Given the description of an element on the screen output the (x, y) to click on. 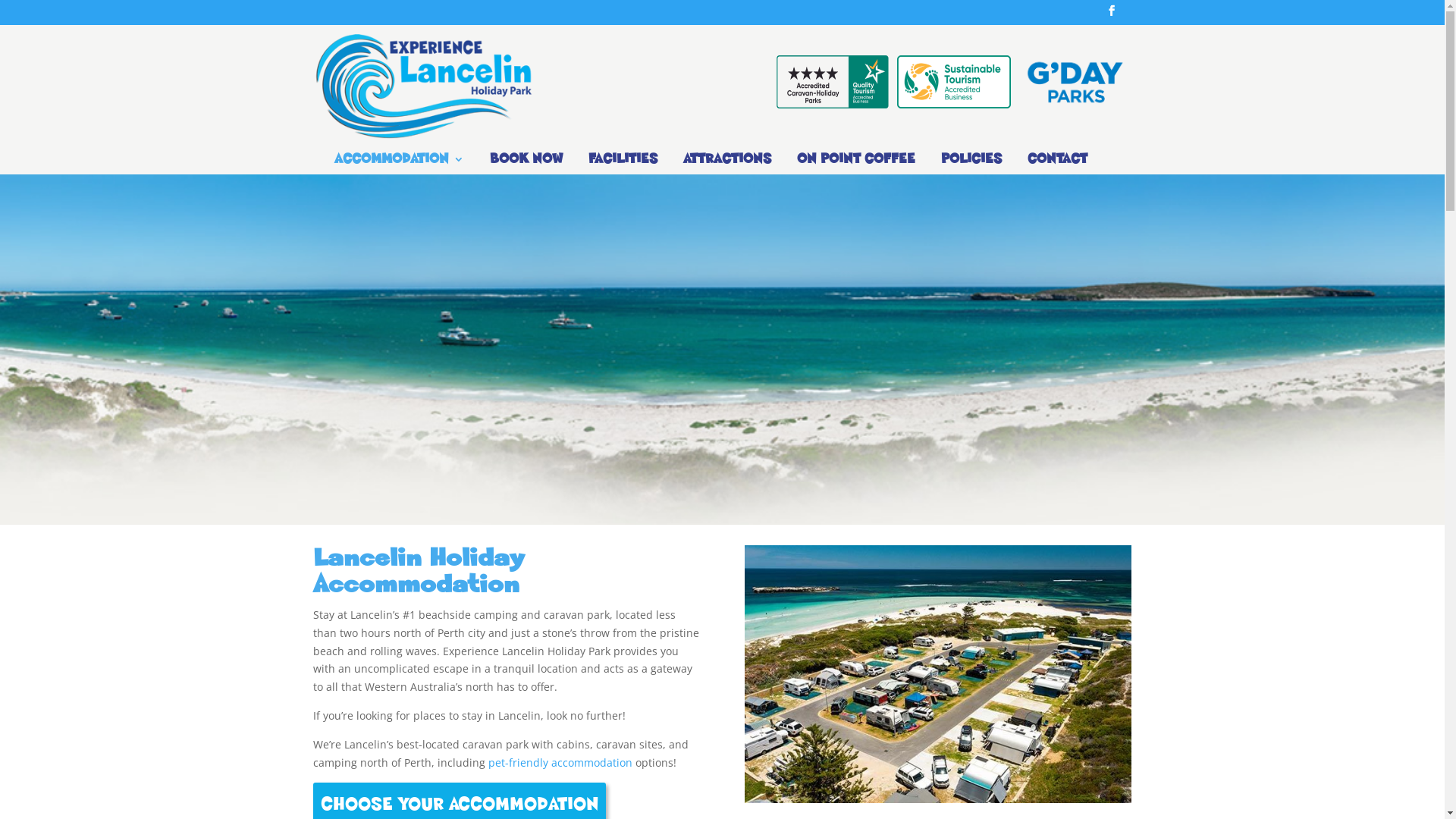
BOOK NOW Element type: text (525, 163)
LHP-Aerial Element type: hover (937, 674)
FACILITIES Element type: text (622, 163)
ON POINT COFFEE Element type: text (856, 163)
ATTRACTIONS Element type: text (727, 163)
pet-friendly accommodation Element type: text (560, 762)
ACCOMMODATION Element type: text (399, 163)
POLICIES Element type: text (971, 163)
CONTACT Element type: text (1057, 163)
